Given the description of an element on the screen output the (x, y) to click on. 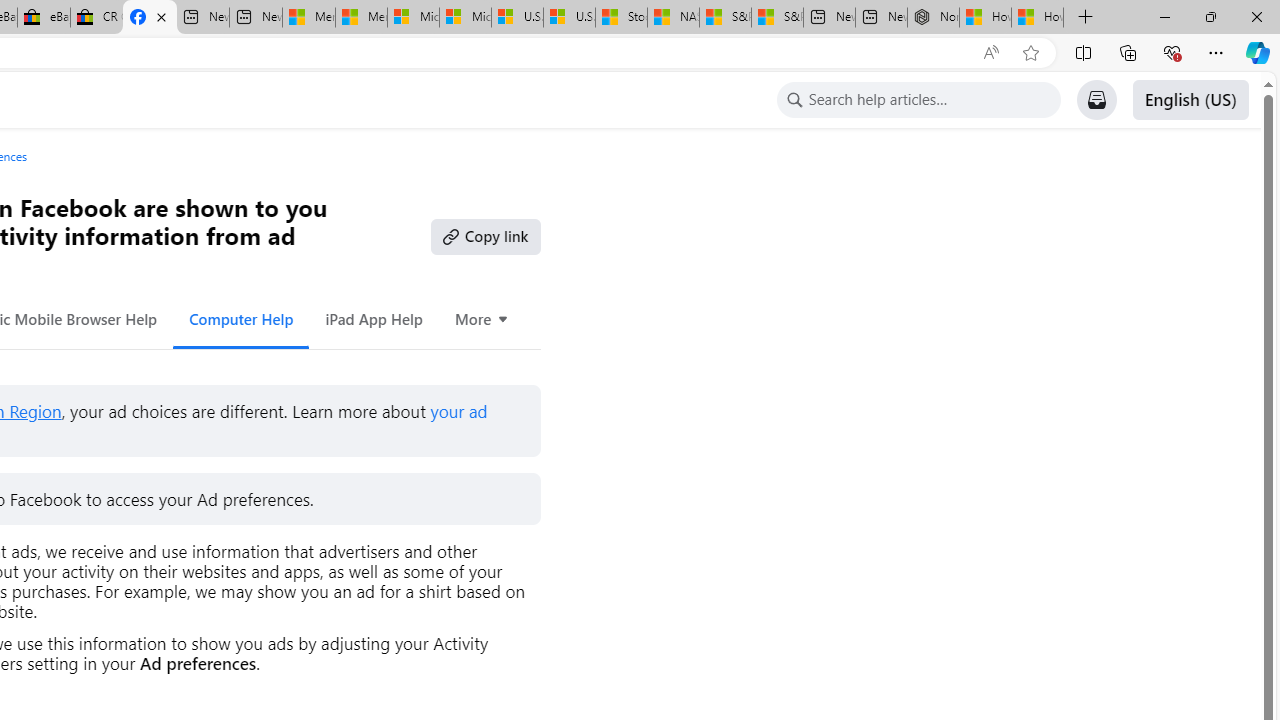
How to Use a Monitor With Your Closed Laptop (1037, 17)
Change Language: English (US) (1190, 99)
Computer Help (240, 318)
S&P 500, Nasdaq end lower, weighed by Nvidia dip | Watch (776, 17)
Copy link (485, 236)
eBay Inc. Reports Third Quarter 2023 Results (43, 17)
